Given the description of an element on the screen output the (x, y) to click on. 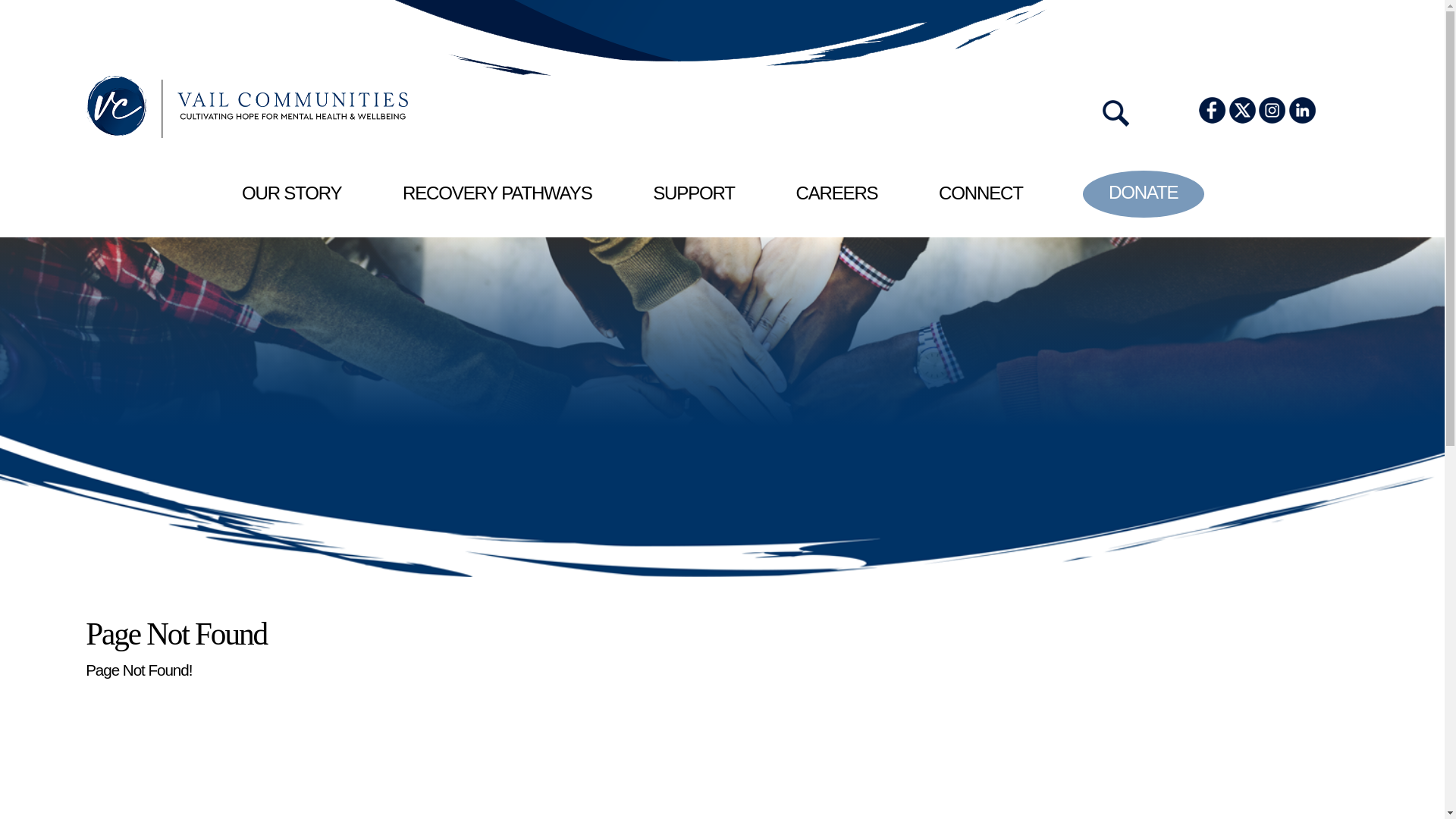
Search (106, 389)
